Given the description of an element on the screen output the (x, y) to click on. 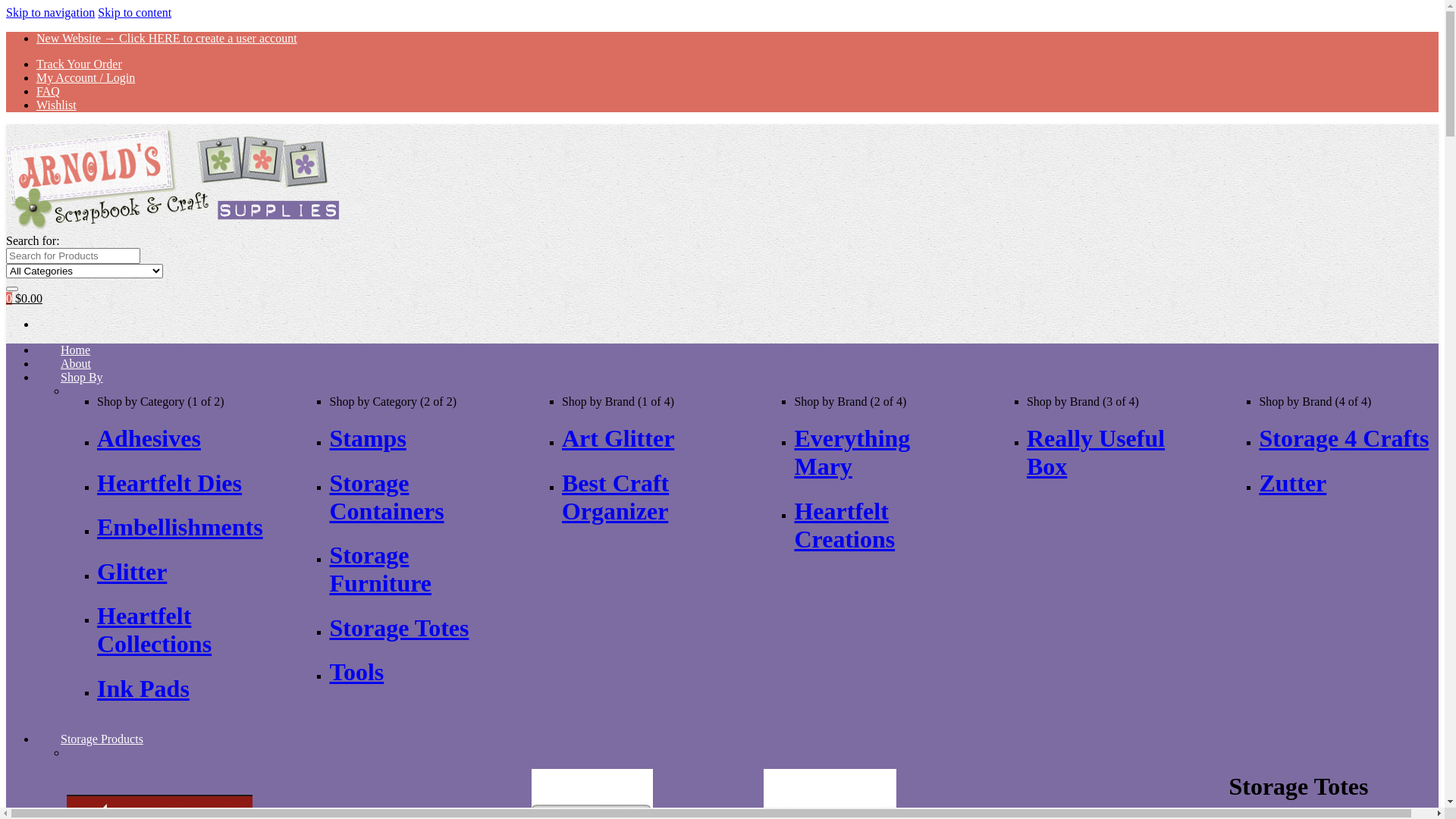
FAQ Element type: text (47, 90)
Storage Products Element type: text (101, 738)
Everything Mary Element type: text (851, 452)
Storage 4 Crafts Element type: text (1343, 437)
Heartfelt Dies Element type: text (169, 482)
Storage Totes Element type: text (398, 627)
Storage Containers Element type: text (386, 496)
About Element type: text (75, 363)
Skip to navigation Element type: text (50, 12)
Adhesives Element type: text (148, 437)
Zutter Element type: text (1292, 482)
Art Glitter Element type: text (617, 437)
Best Craft Organizer Element type: text (614, 496)
0 $0.00 Element type: text (24, 297)
Track Your Order Element type: text (79, 63)
Ink Pads Element type: text (143, 688)
Heartfelt Collections Element type: text (154, 629)
Home Element type: text (75, 349)
My Account / Login Element type: text (85, 77)
Stamps Element type: text (367, 437)
Embellishments Element type: text (180, 526)
Tools Element type: text (356, 671)
Skip to content Element type: text (134, 12)
Heartfelt Creations Element type: text (843, 524)
Storage Furniture Element type: text (380, 568)
Glitter Element type: text (131, 571)
Shop By Element type: text (81, 376)
Really Useful Box Element type: text (1095, 452)
Wishlist Element type: text (56, 104)
